Given the description of an element on the screen output the (x, y) to click on. 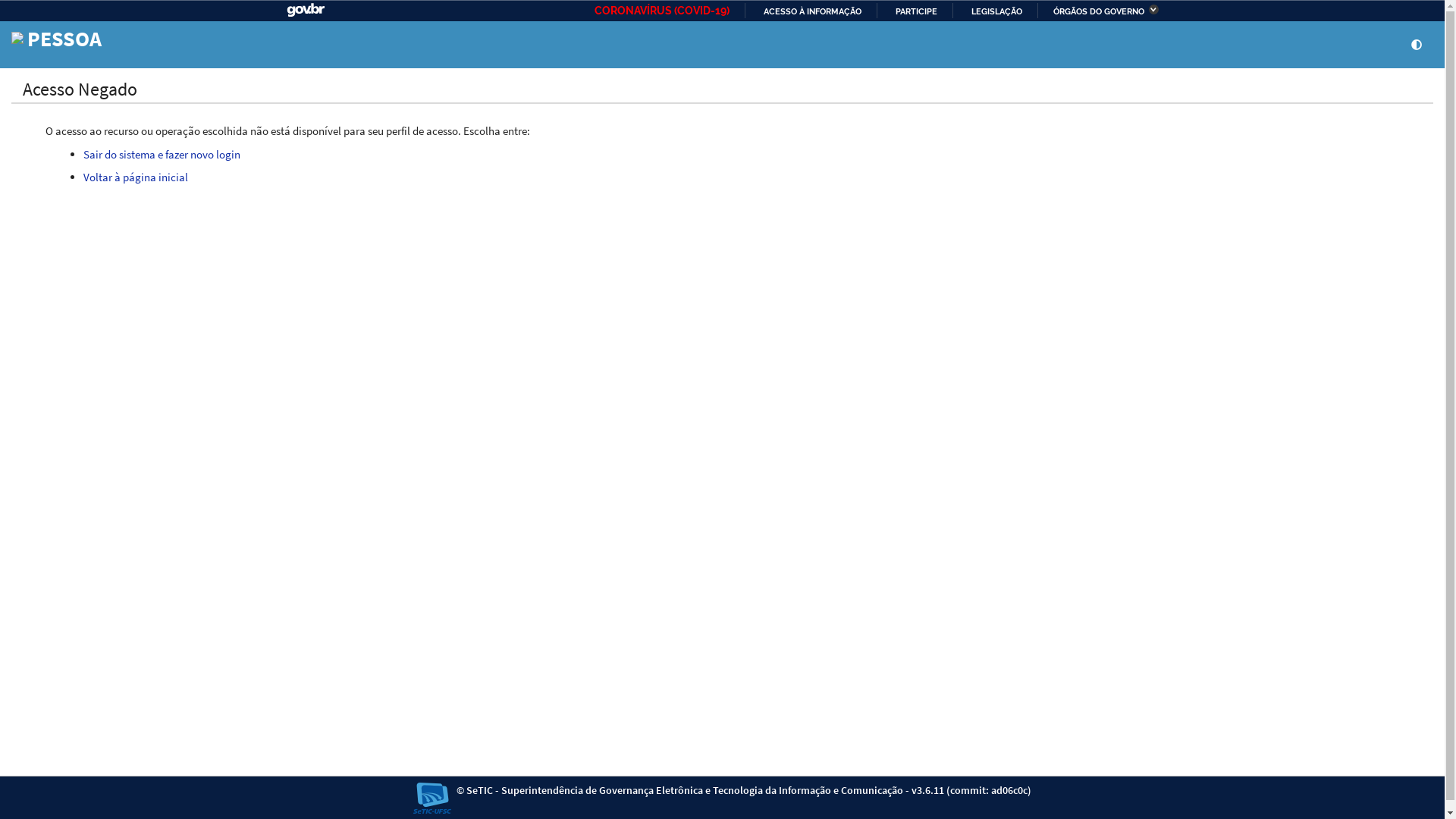
Sair do sistema e fazer novo login Element type: text (161, 154)
PARTICIPE Element type: text (909, 11)
GOVBR Element type: text (305, 10)
PESSOA Element type: text (56, 43)
